Given the description of an element on the screen output the (x, y) to click on. 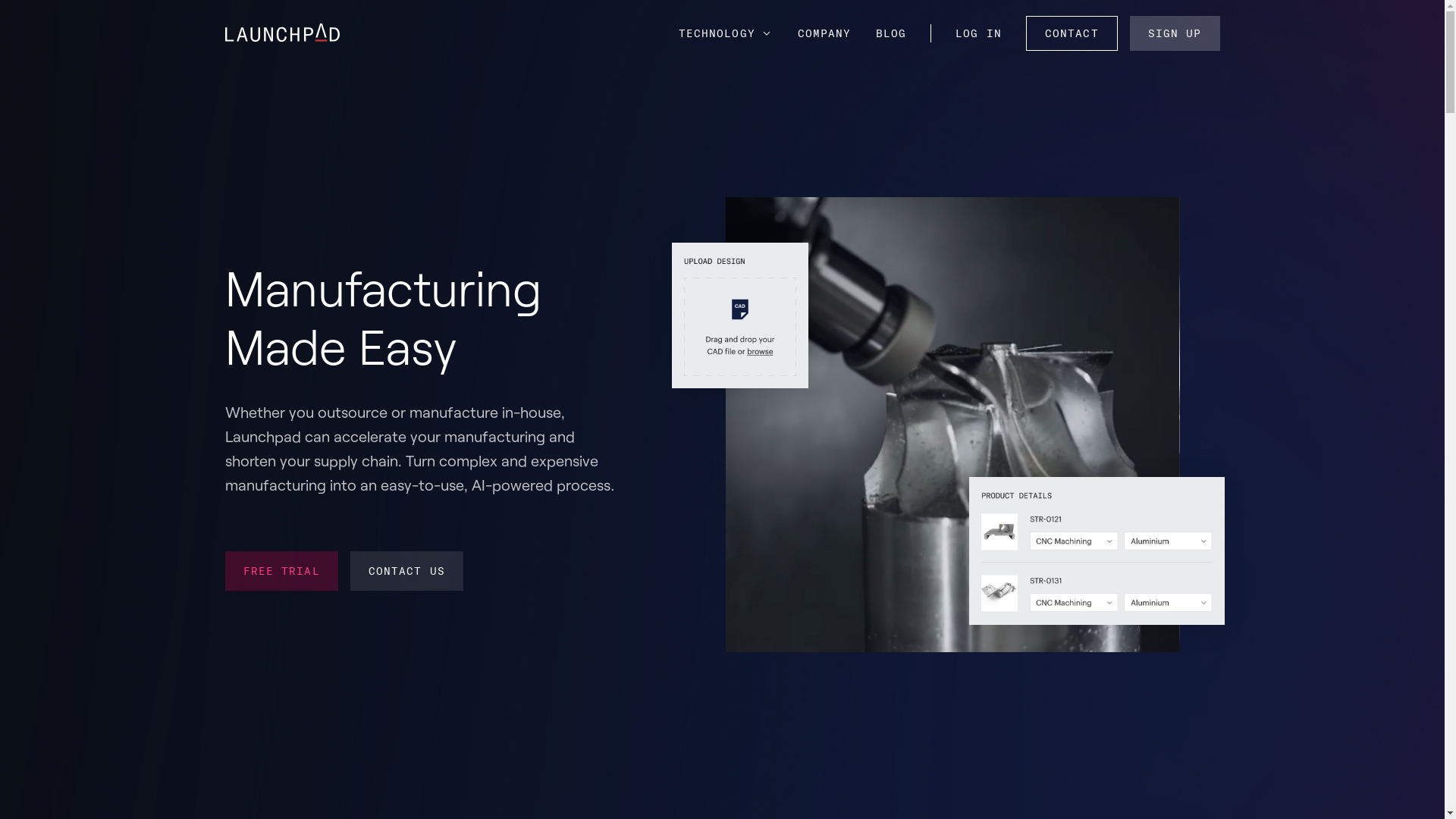
BLOG Element type: text (890, 32)
FREE TRIAL Element type: text (280, 570)
COMPANY Element type: text (824, 32)
CONTACT Element type: text (1071, 32)
LOG IN Element type: text (978, 32)
CONTACT US Element type: text (406, 570)
SIGN UP Element type: text (1174, 32)
